Given the description of an element on the screen output the (x, y) to click on. 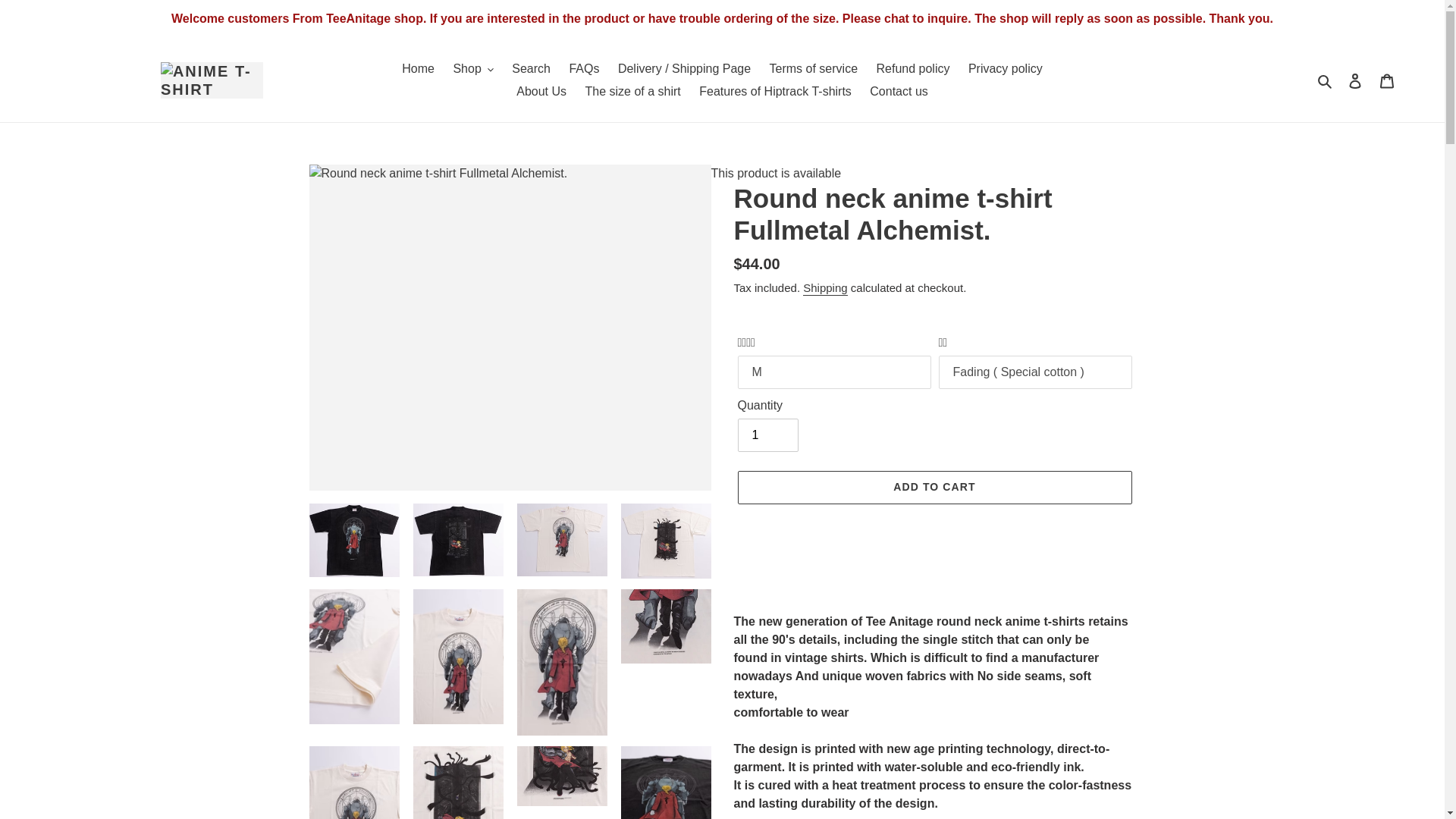
Search (1326, 80)
Terms of service (812, 68)
Refund policy (911, 68)
Log in (1355, 80)
Privacy policy (1004, 68)
About Us (540, 91)
Search (530, 68)
Contact us (897, 91)
Home (418, 68)
Cart (1387, 80)
The size of a shirt (631, 91)
1 (766, 435)
Shop (472, 68)
FAQs (583, 68)
